Given the description of an element on the screen output the (x, y) to click on. 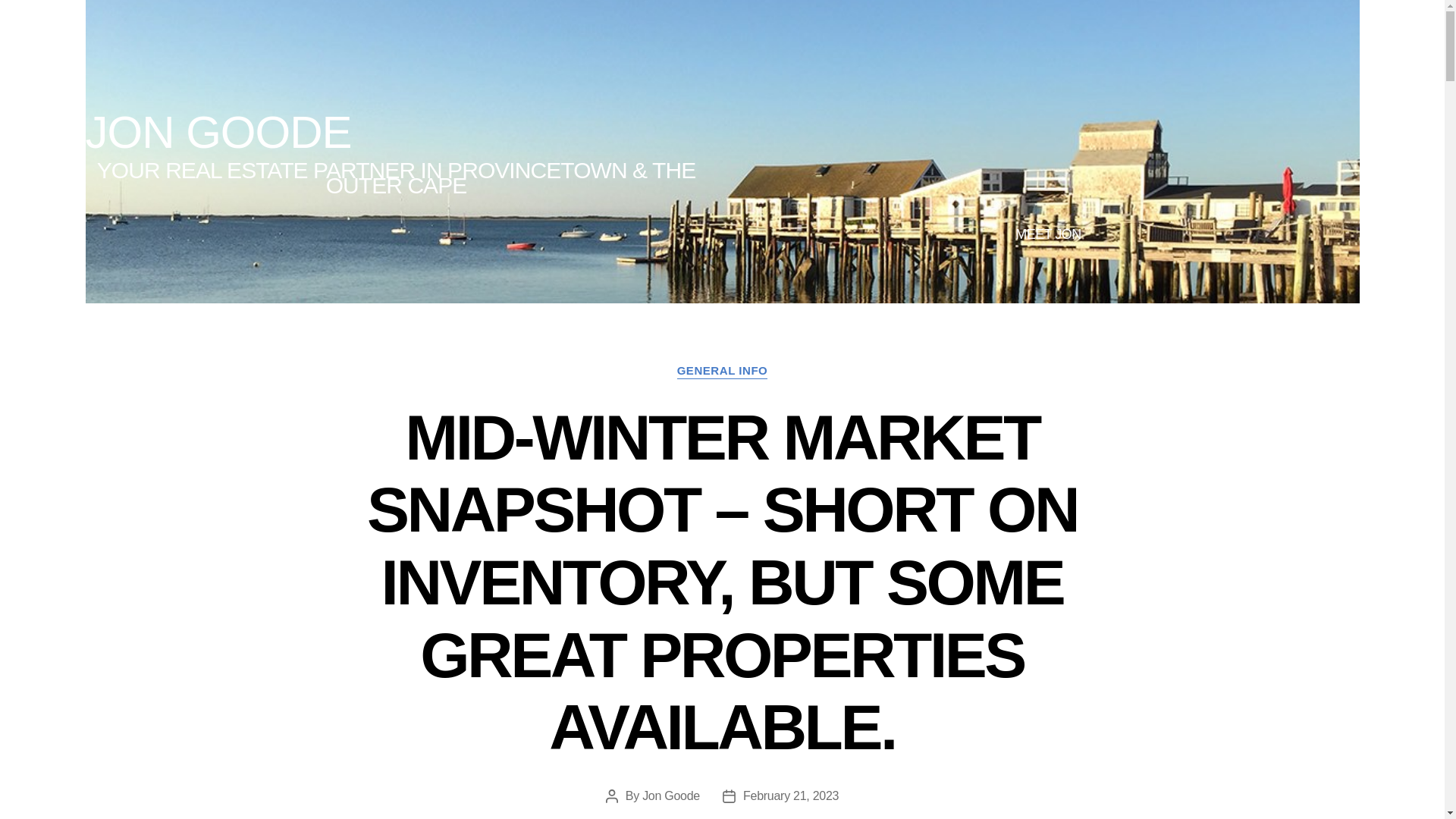
JON GOODE (217, 132)
GENERAL INFO (722, 371)
MEET JON (1047, 234)
February 21, 2023 (790, 795)
Jon Goode (671, 795)
